Given the description of an element on the screen output the (x, y) to click on. 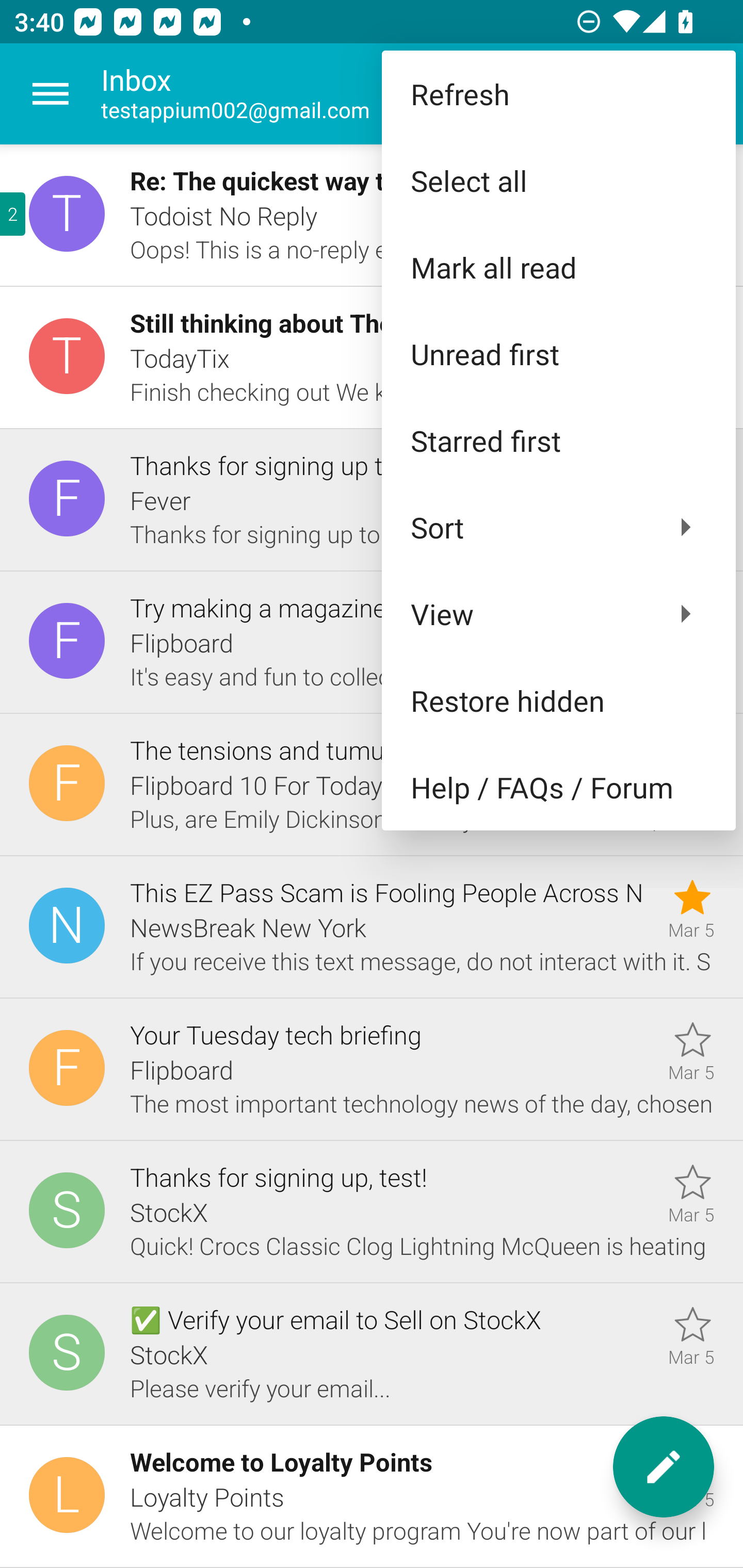
Refresh (558, 93)
Select all (558, 180)
Mark all read (558, 267)
Unread first (558, 353)
Starred first (558, 440)
Sort (558, 527)
View (558, 613)
Restore hidden (558, 699)
Help / FAQs / Forum (558, 787)
